Given the description of an element on the screen output the (x, y) to click on. 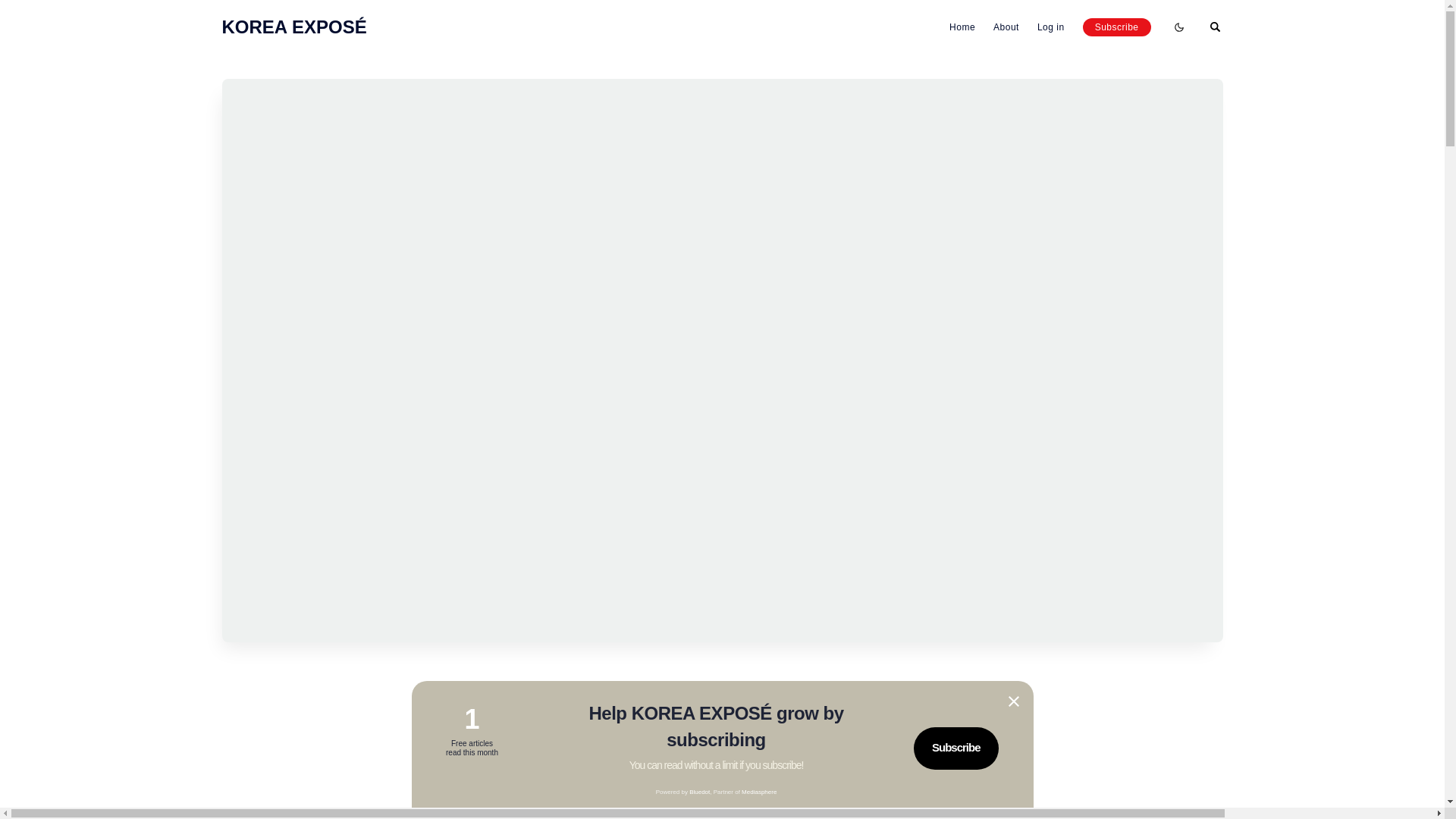
Home (962, 27)
Jieun Choi (634, 802)
Write a comment (813, 802)
Enable dark mode (1179, 27)
Subscribe (956, 748)
05 Apr 2017 (719, 801)
Enable dark mode (1179, 27)
Bluedot (699, 791)
About (1005, 27)
Log in (1050, 27)
